Given the description of an element on the screen output the (x, y) to click on. 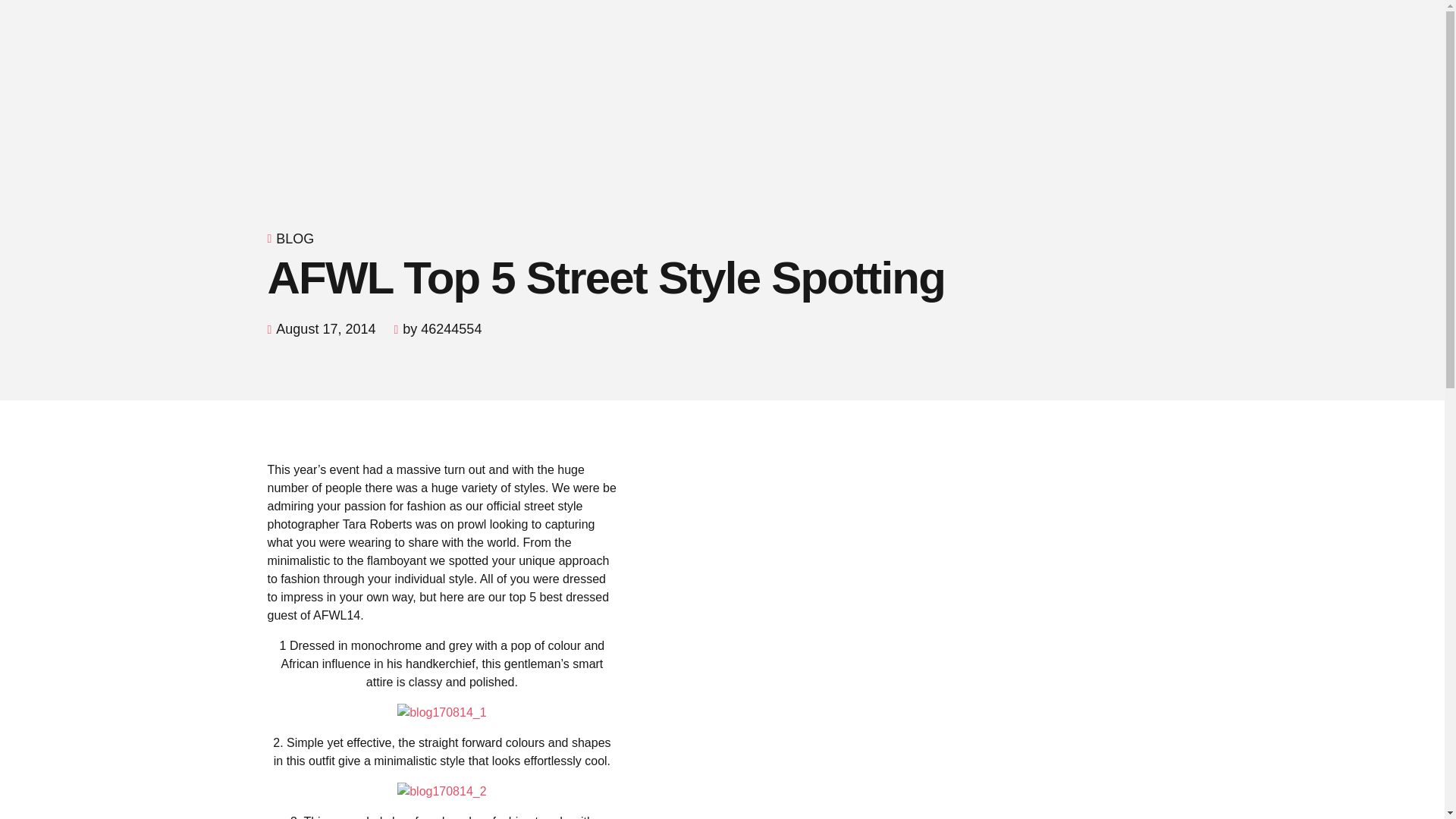
BLOG (295, 239)
